Given the description of an element on the screen output the (x, y) to click on. 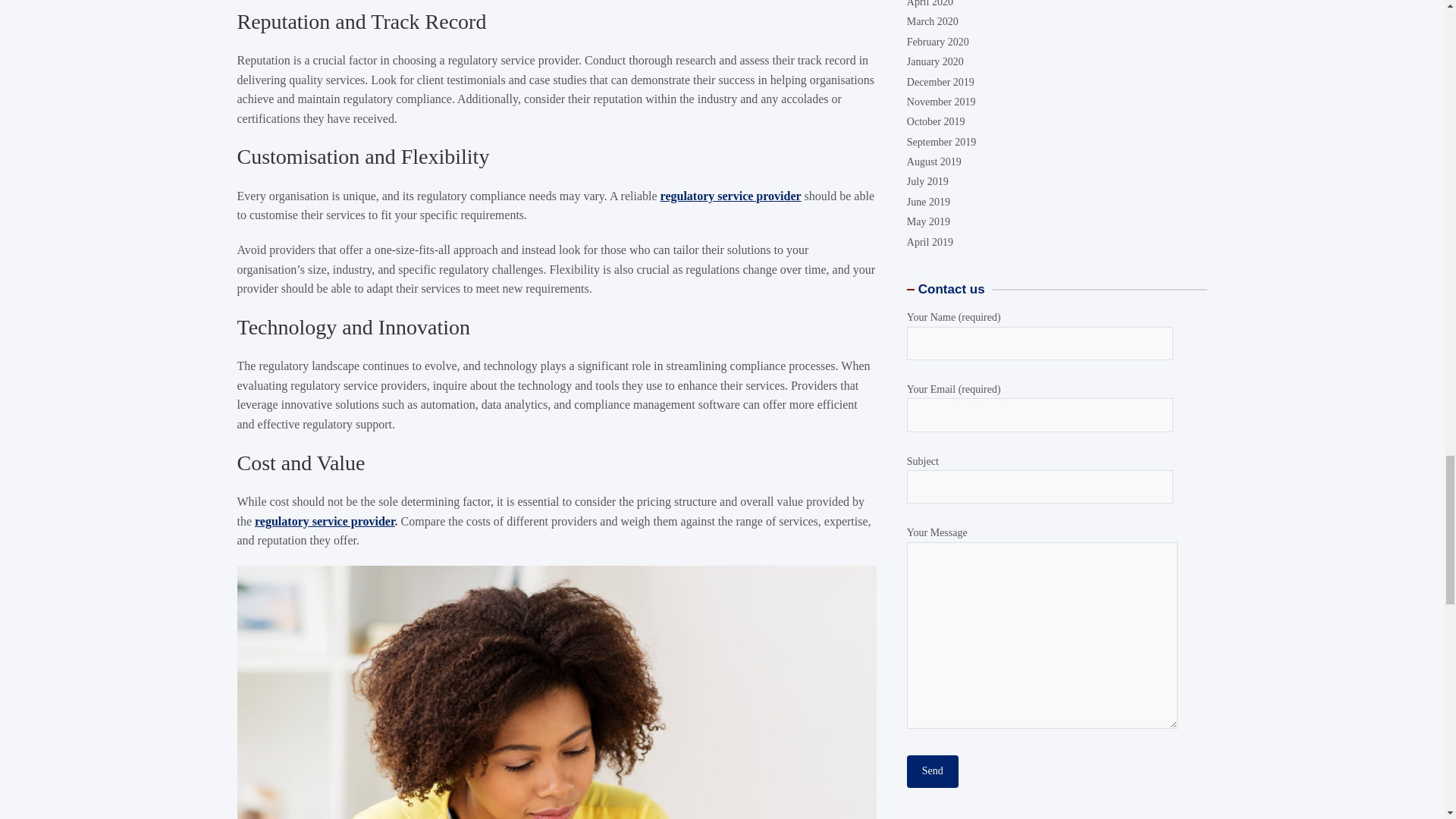
Send (932, 182)
regulatory service provider (324, 521)
regulatory service provider (731, 195)
